Given the description of an element on the screen output the (x, y) to click on. 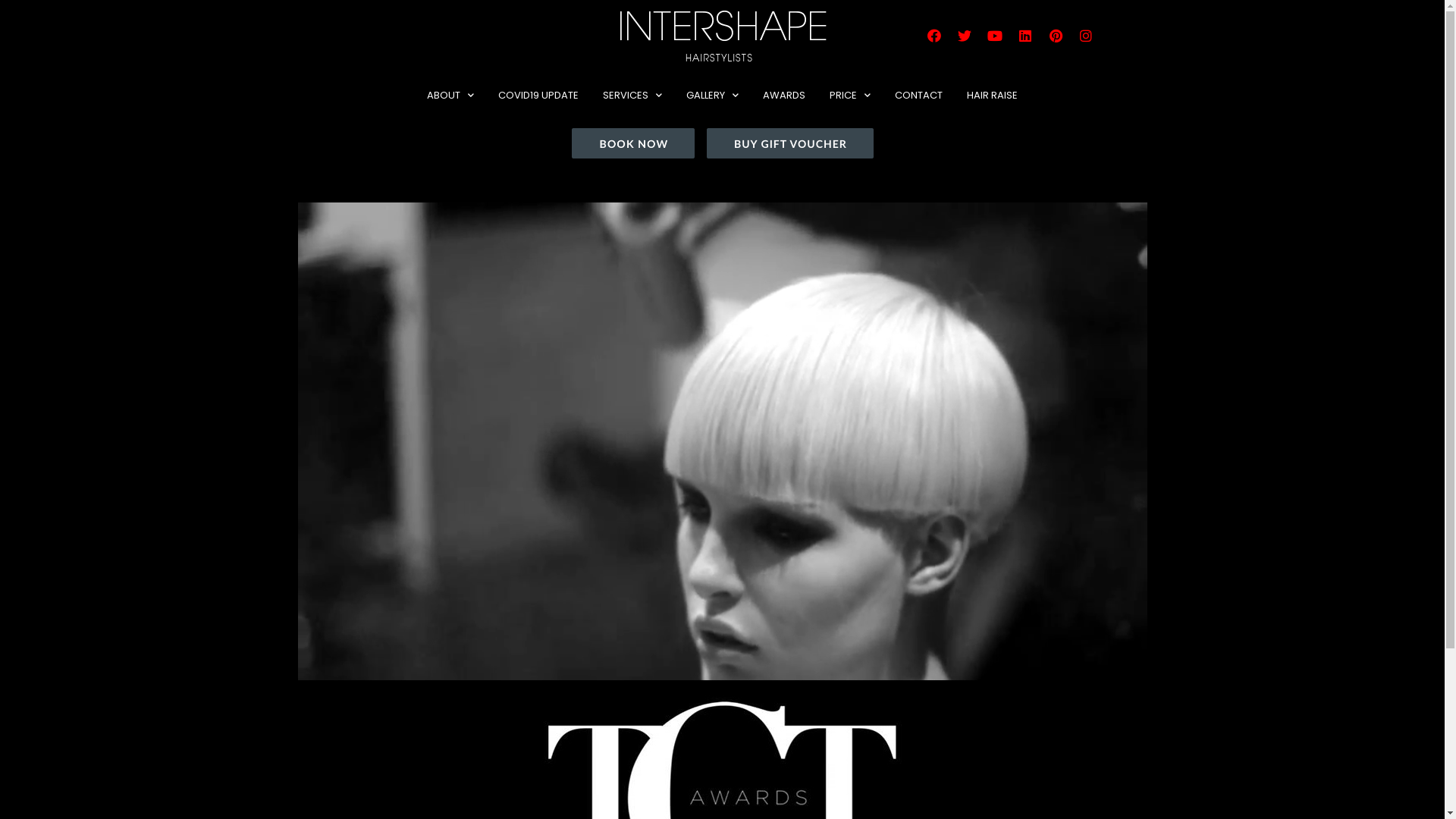
CONTACT Element type: text (918, 95)
HAIR RAISE Element type: text (991, 95)
SERVICES Element type: text (632, 95)
ABOUT Element type: text (450, 95)
PRICE Element type: text (849, 95)
COVID19 UPDATE Element type: text (538, 95)
AWARDS Element type: text (783, 95)
GALLERY Element type: text (712, 95)
